Given the description of an element on the screen output the (x, y) to click on. 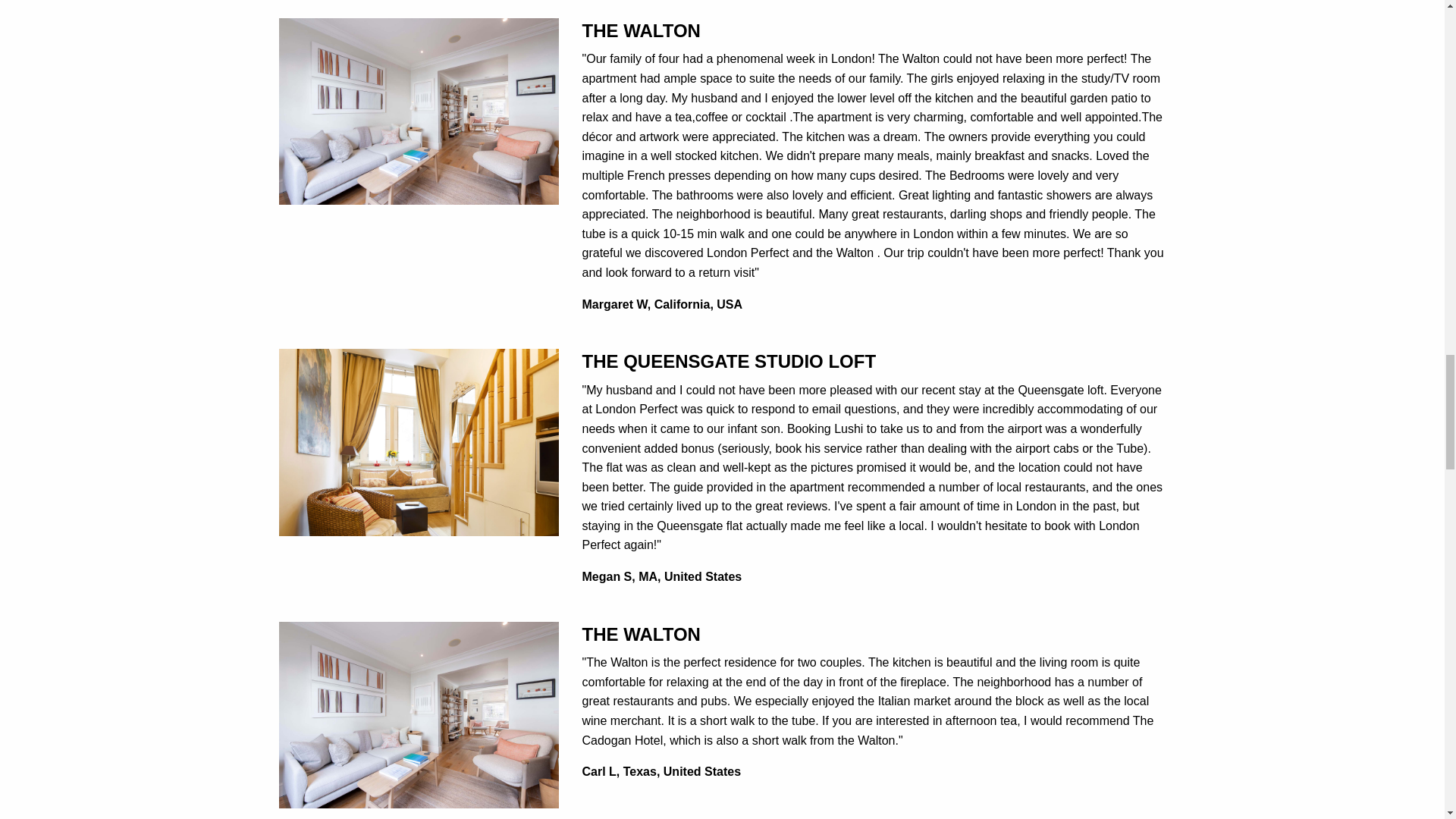
The Queensgate Studio Loft (419, 440)
The Walton (419, 110)
The Walton (419, 713)
